Given the description of an element on the screen output the (x, y) to click on. 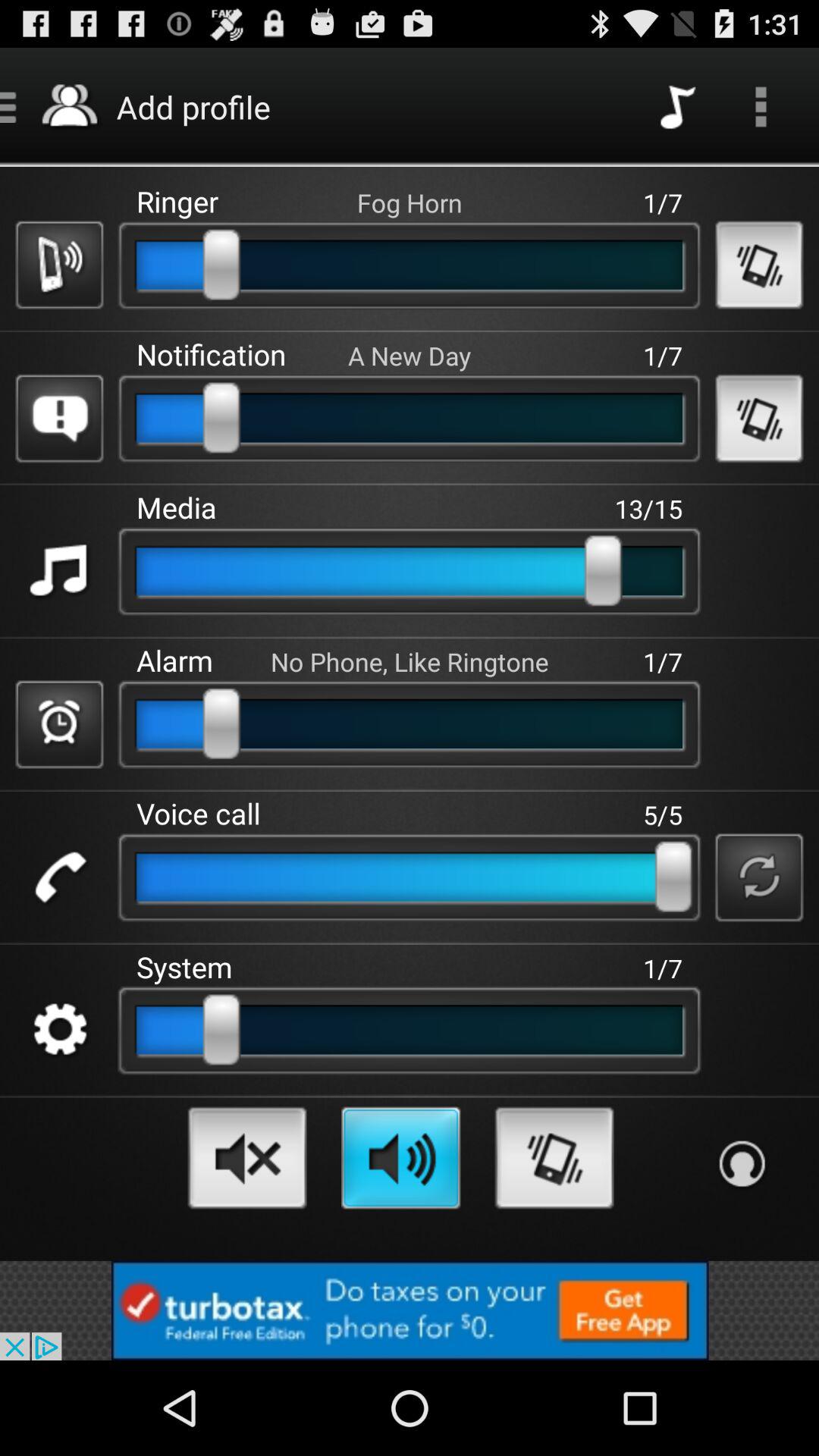
mute all (247, 1157)
